Given the description of an element on the screen output the (x, y) to click on. 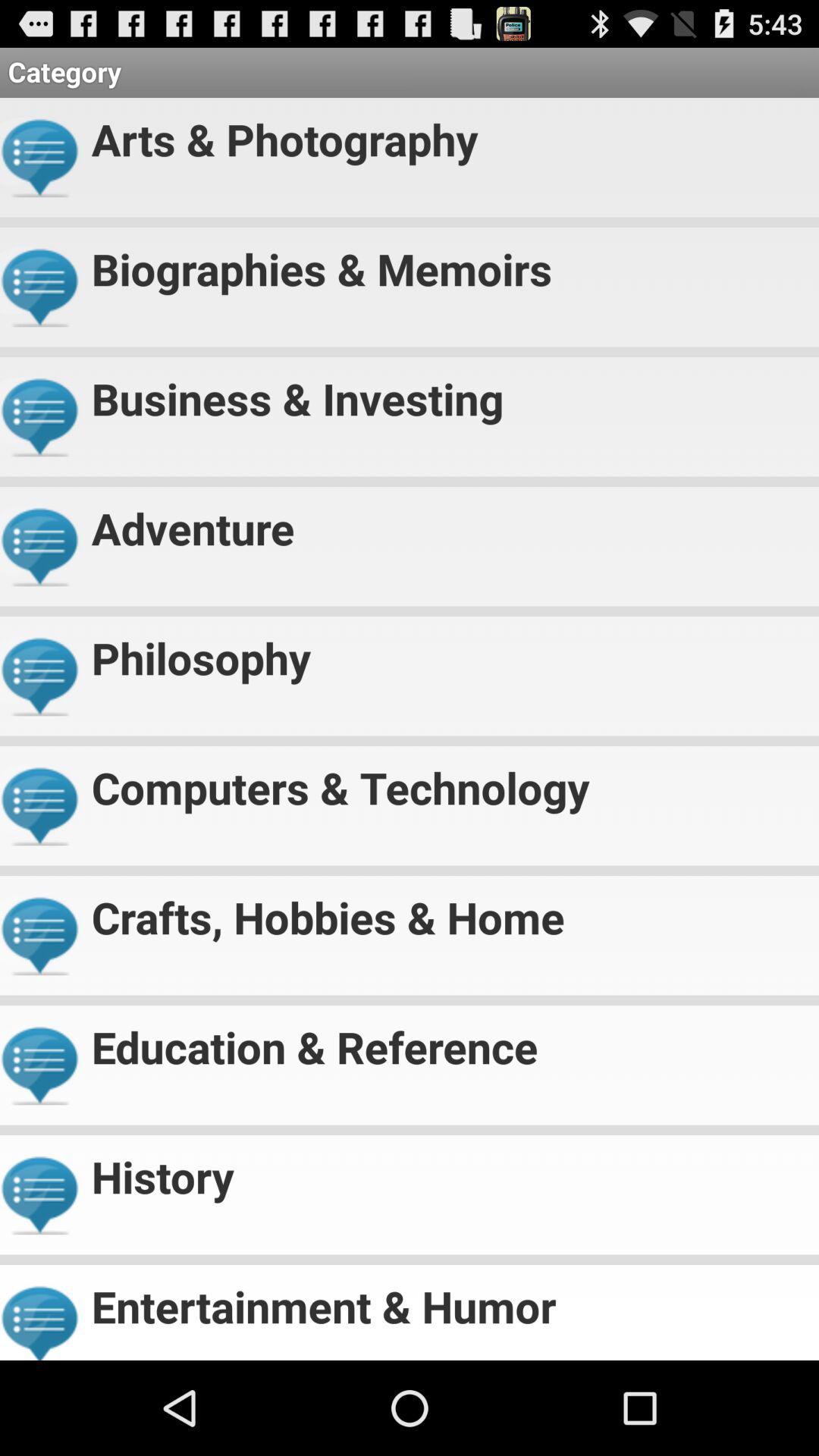
scroll until philosophy (449, 651)
